Given the description of an element on the screen output the (x, y) to click on. 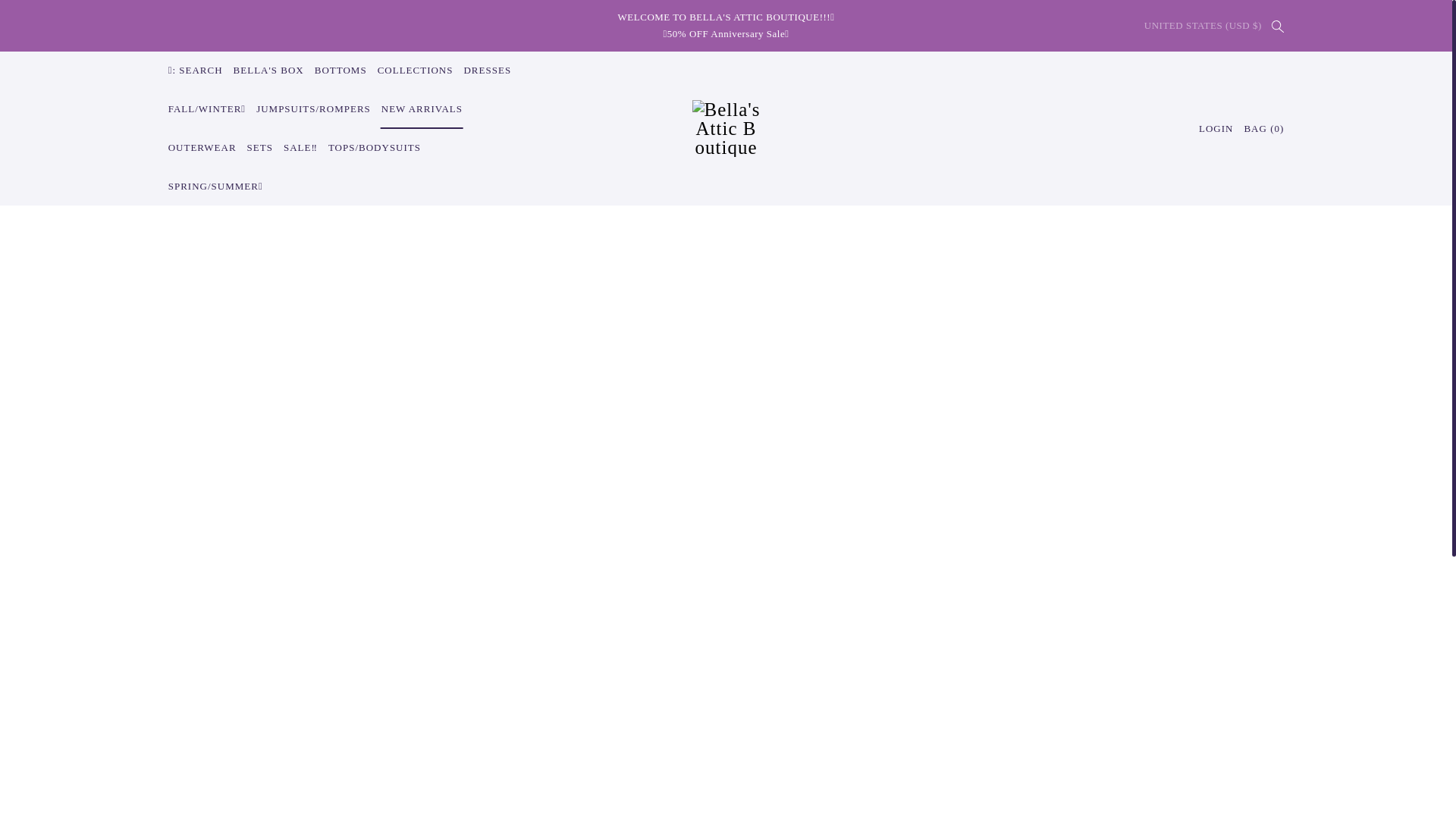
BOTTOMS (339, 70)
VIEW (27, 479)
OUTERWEAR (202, 147)
SETS (259, 147)
BELLA'S BOX (268, 70)
NEW ARRIVALS (421, 109)
COLLECTIONS (415, 70)
DRESSES (487, 70)
